Given the description of an element on the screen output the (x, y) to click on. 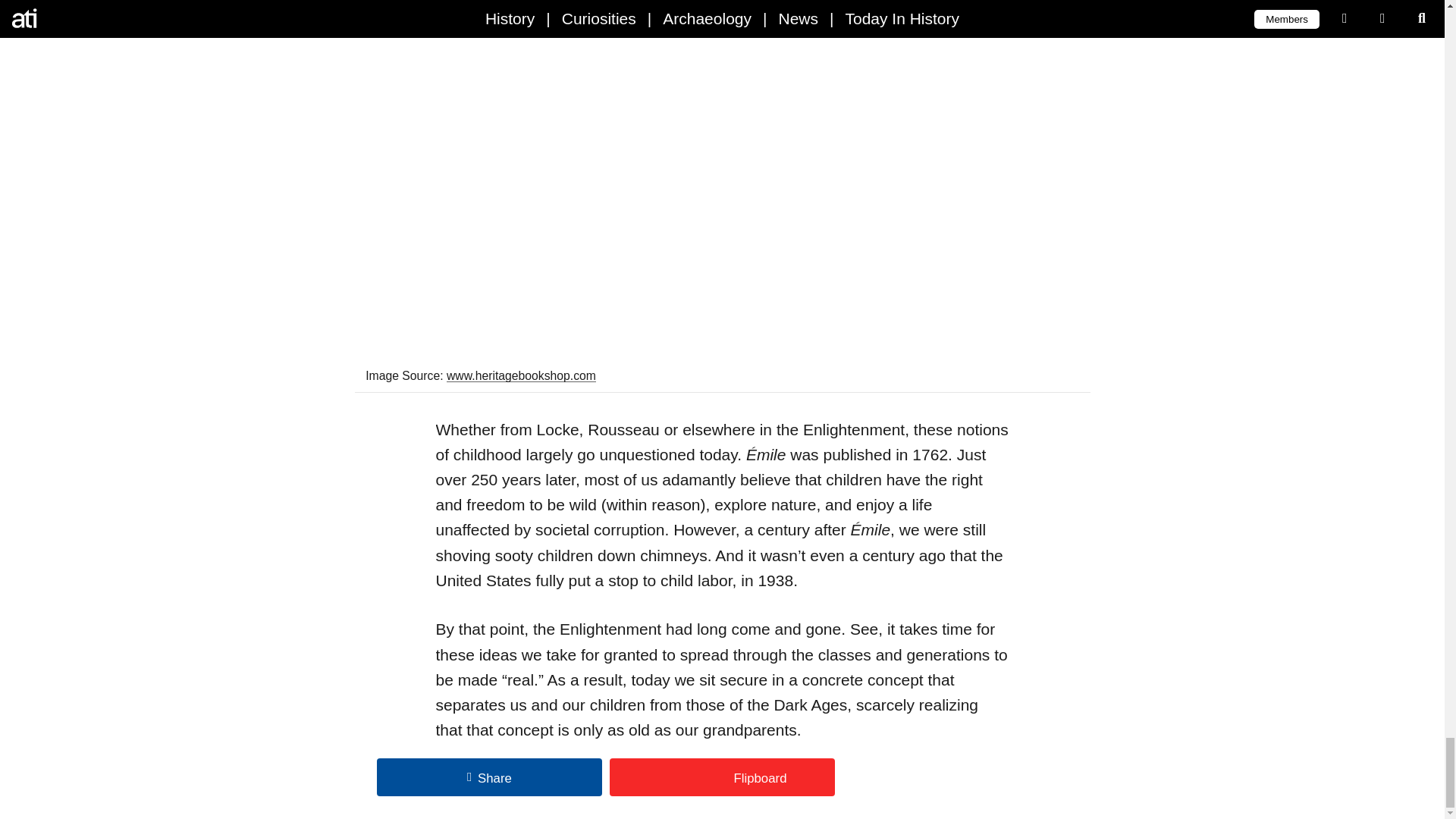
Share (489, 777)
www.heritagebookshop.com (520, 375)
Flipboard (722, 777)
